Given the description of an element on the screen output the (x, y) to click on. 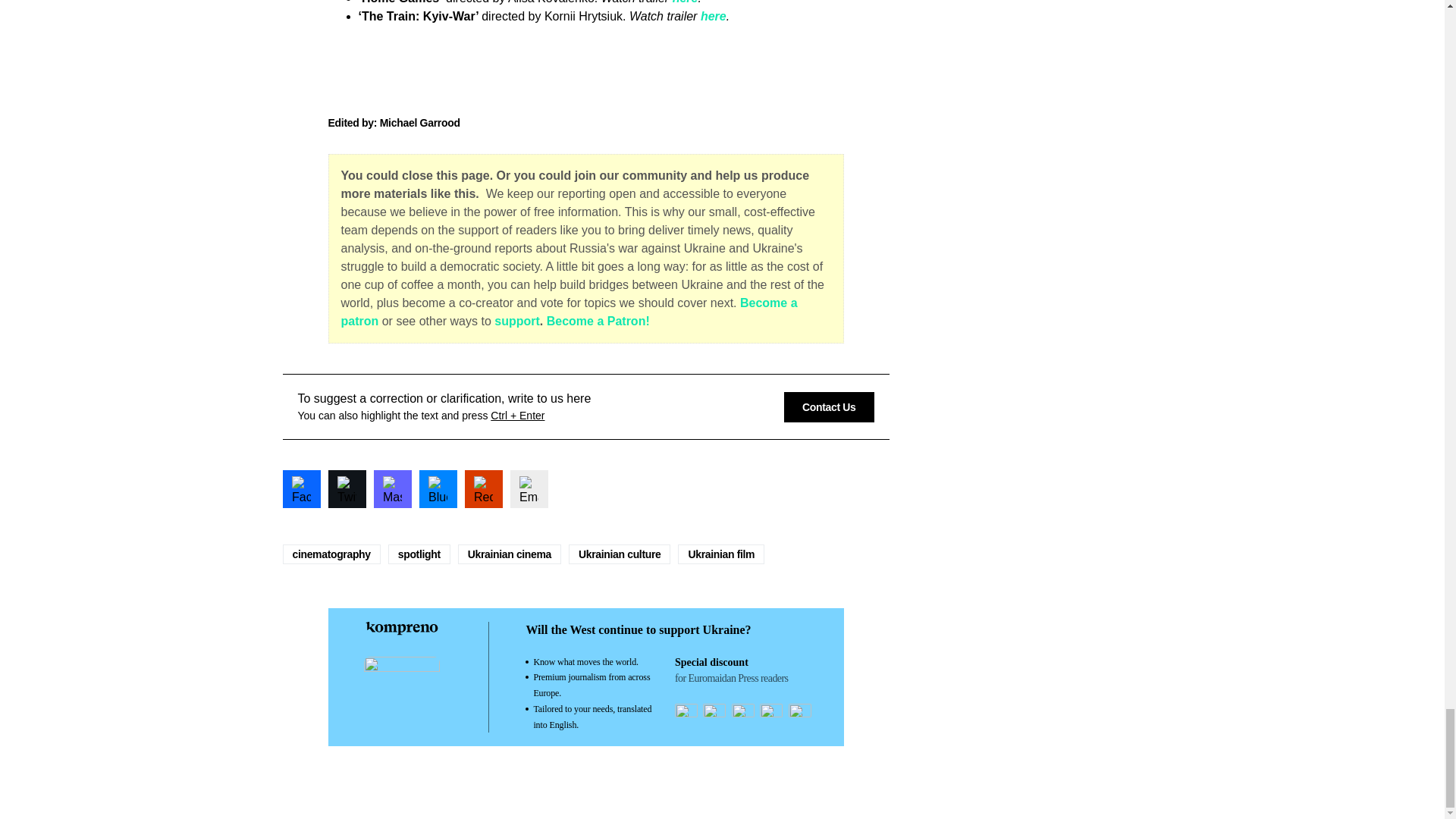
Share to Reddit (483, 488)
Share to Mastodon (391, 488)
Share to Email (528, 488)
Share to Bluesky (438, 488)
Share to Twitter (346, 488)
Share to Facebook (301, 488)
